Given the description of an element on the screen output the (x, y) to click on. 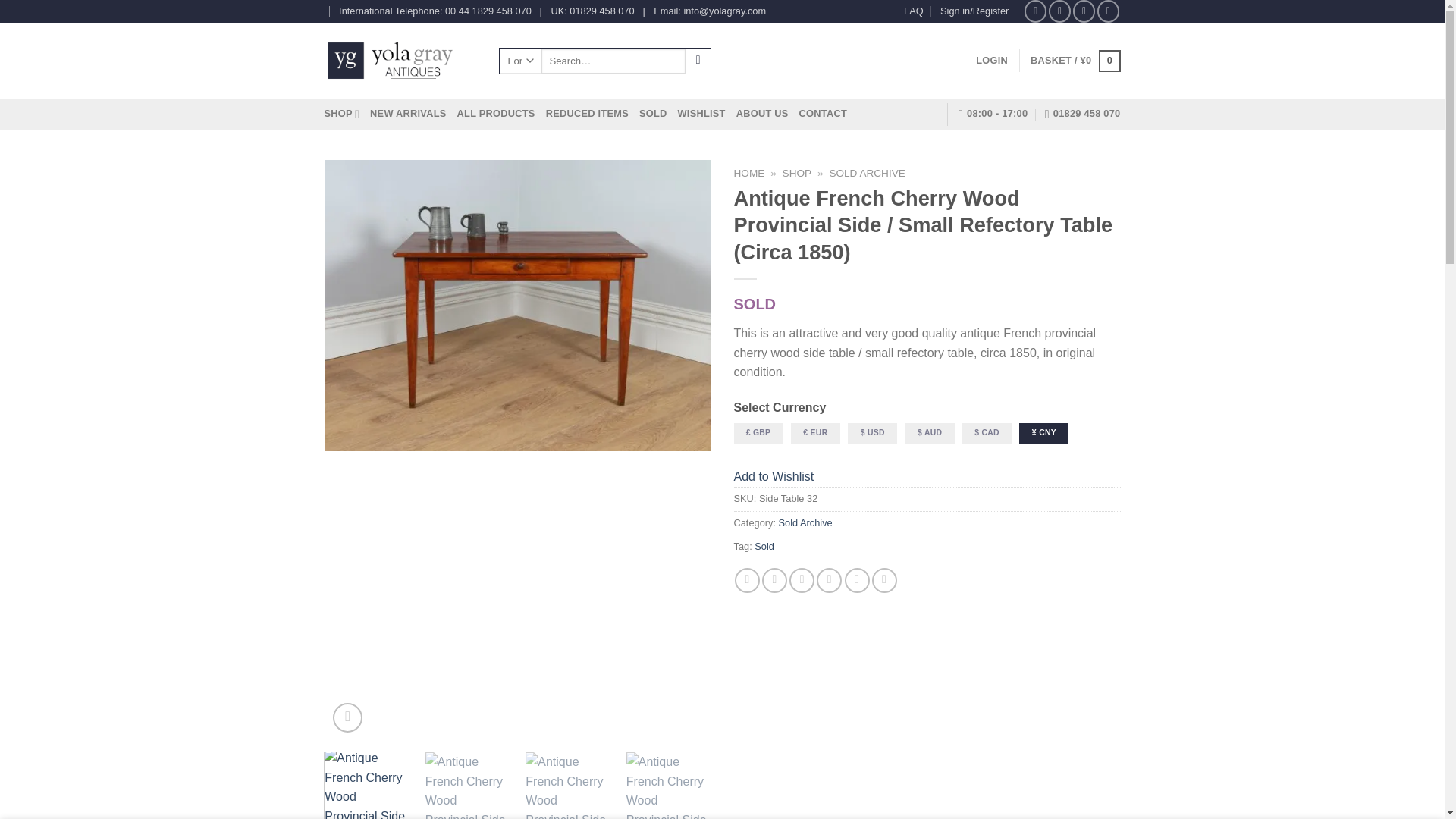
Follow on Instagram (1059, 11)
SHOP (341, 113)
Login (991, 60)
Follow on Pinterest (1108, 11)
Search (697, 60)
Basket (1075, 61)
View Our New Stock In One Place (407, 113)
Follow on Facebook (1035, 11)
LOGIN (991, 60)
Follow on Twitter (1083, 11)
